Given the description of an element on the screen output the (x, y) to click on. 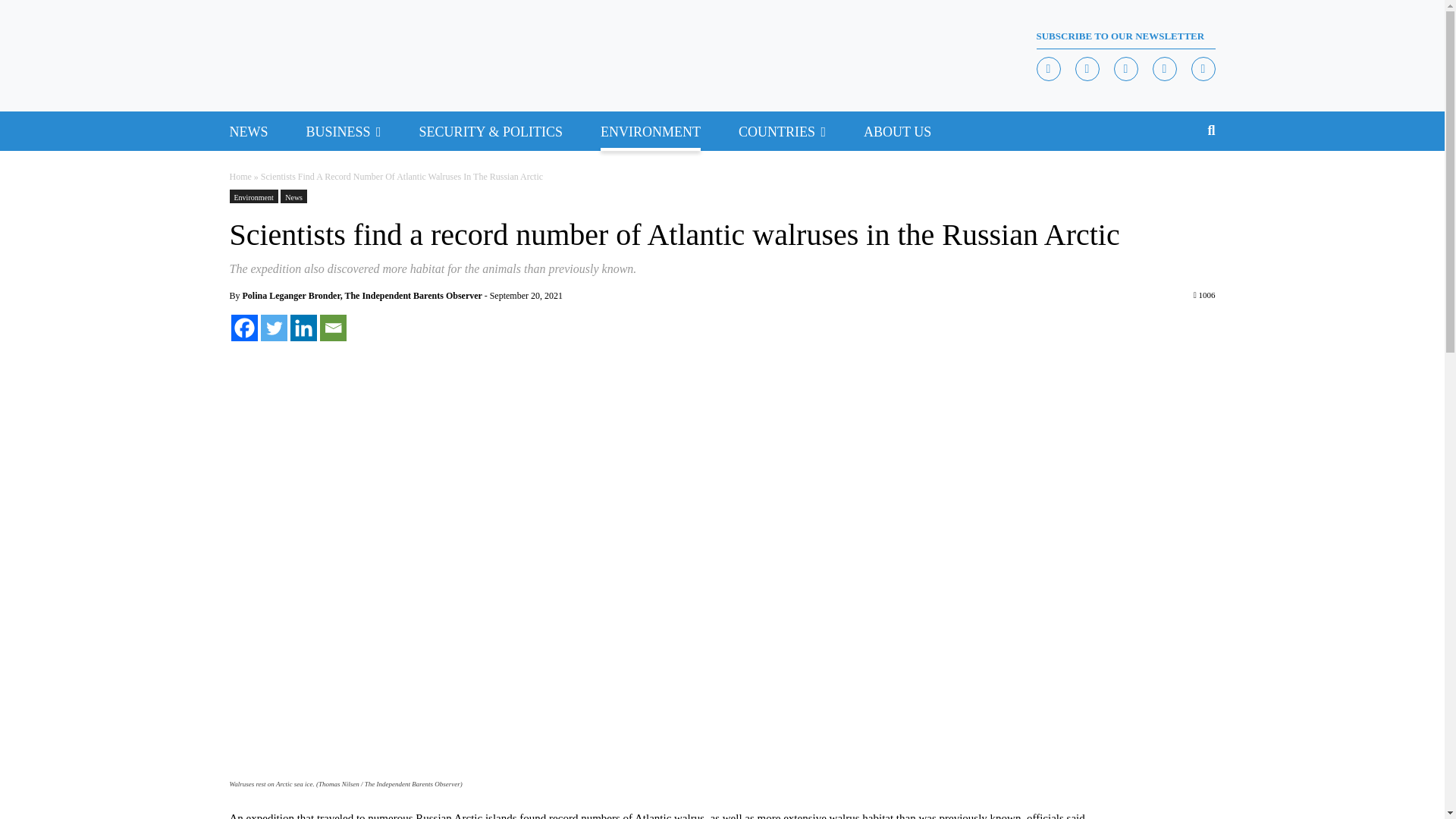
SUBSCRIBE TO OUR NEWSLETTER (1124, 36)
NEWS (247, 130)
BUSINESS (338, 130)
